Given the description of an element on the screen output the (x, y) to click on. 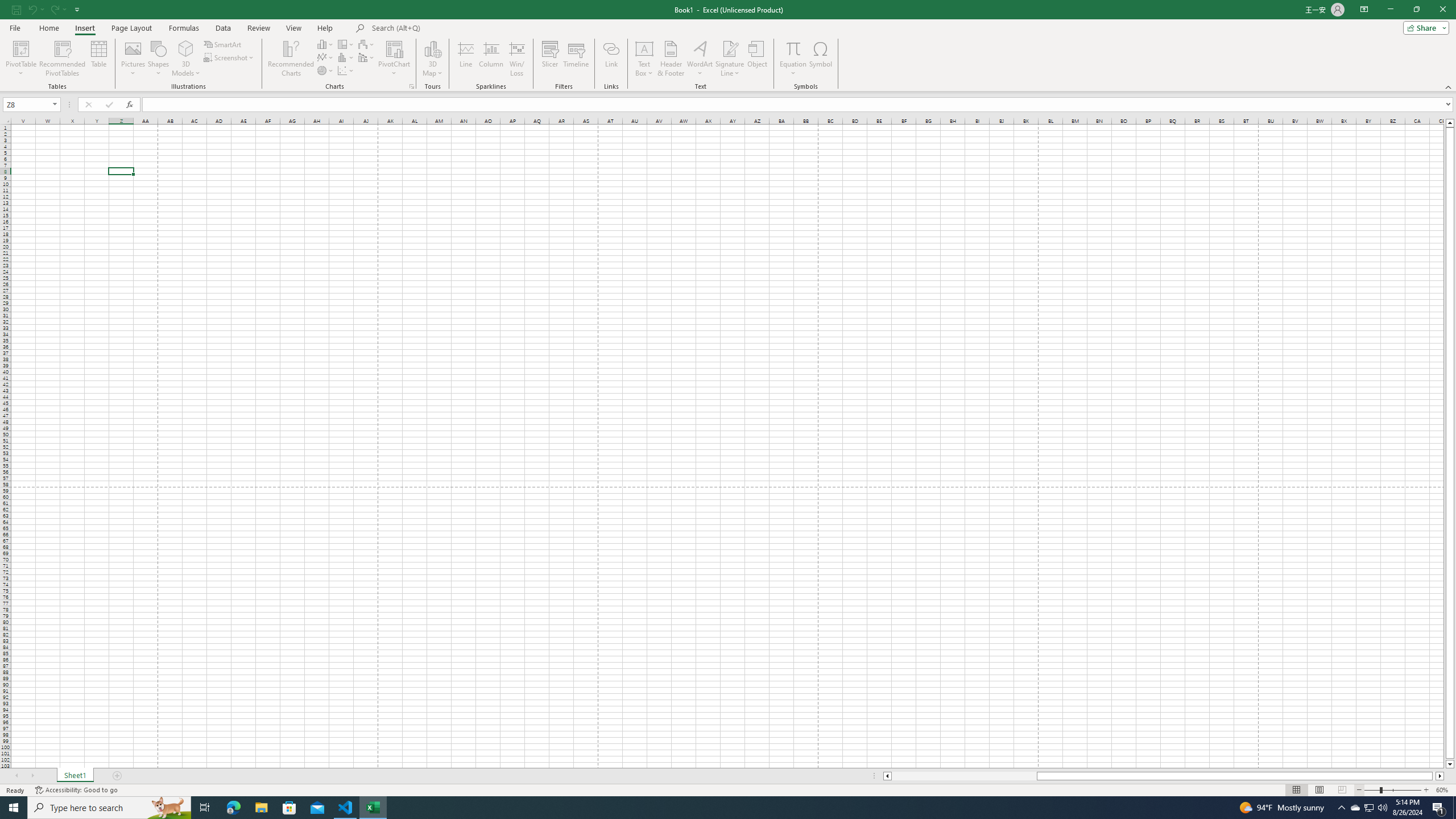
Timeline (575, 58)
Signature Line (729, 58)
Draw Horizontal Text Box (643, 48)
3D Models (186, 58)
Text Box (643, 58)
Signature Line (729, 48)
